Given the description of an element on the screen output the (x, y) to click on. 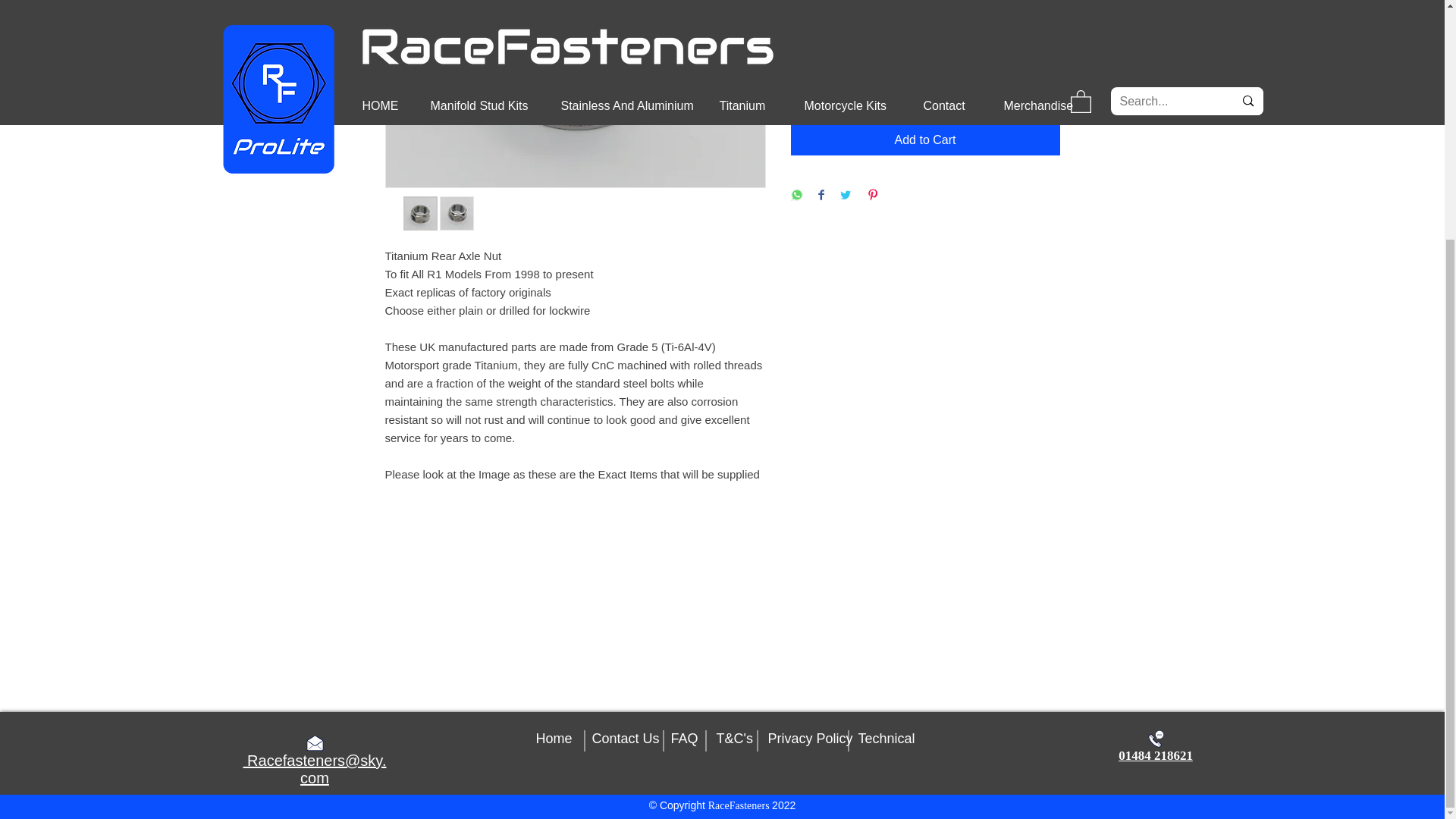
Contact Us (625, 739)
Select (924, 19)
01484 218621 (1155, 755)
Home (554, 739)
FAQ (683, 739)
1 (818, 84)
Privacy Policy (809, 739)
Technical (887, 739)
Add to Cart (924, 140)
